Given the description of an element on the screen output the (x, y) to click on. 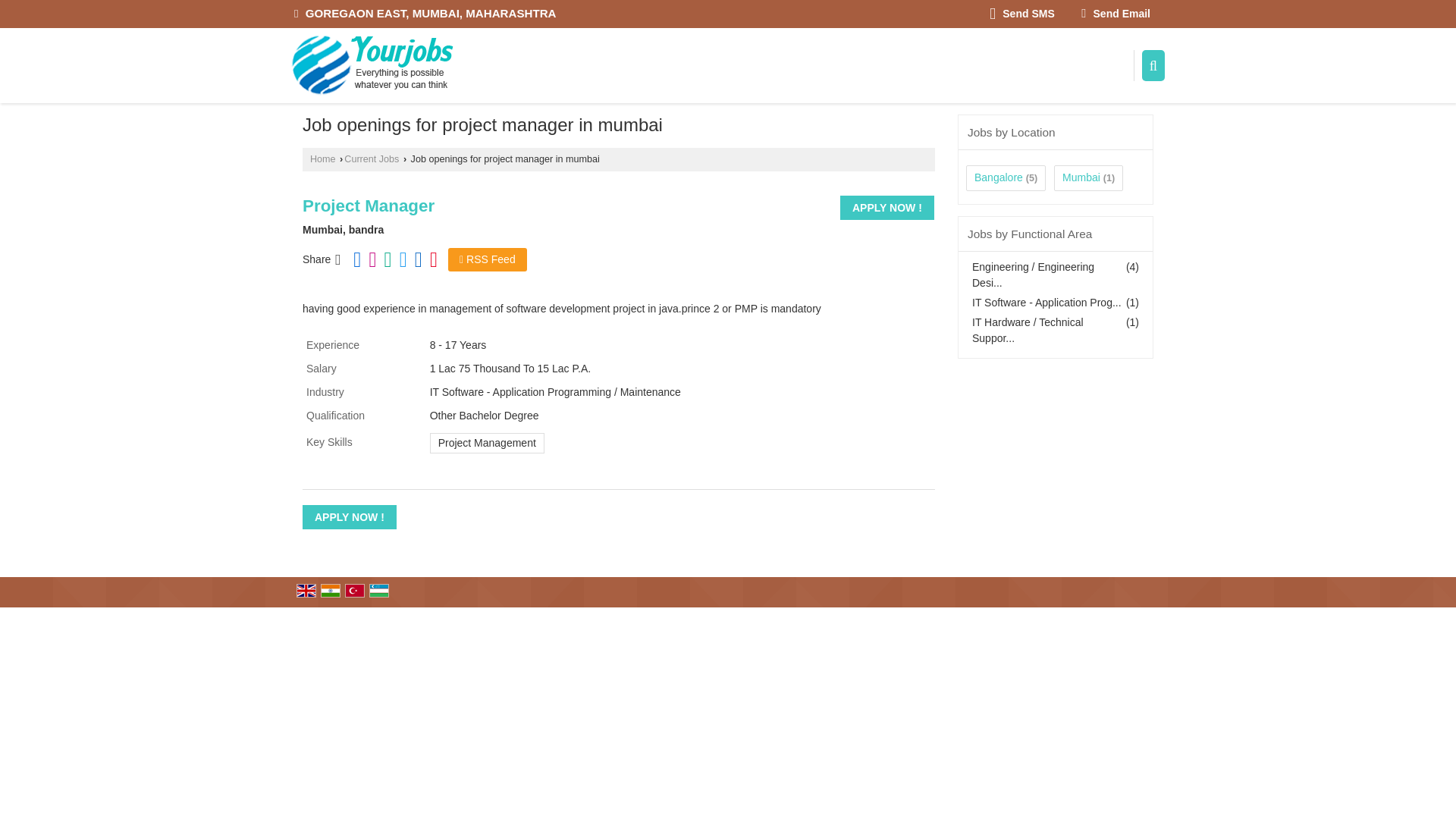
Send Email (1115, 14)
APPLY NOW ! (887, 207)
APPLY NOW ! (349, 517)
Prasoon Technologies Pvt Ltd (373, 65)
Send SMS (1021, 14)
